Given the description of an element on the screen output the (x, y) to click on. 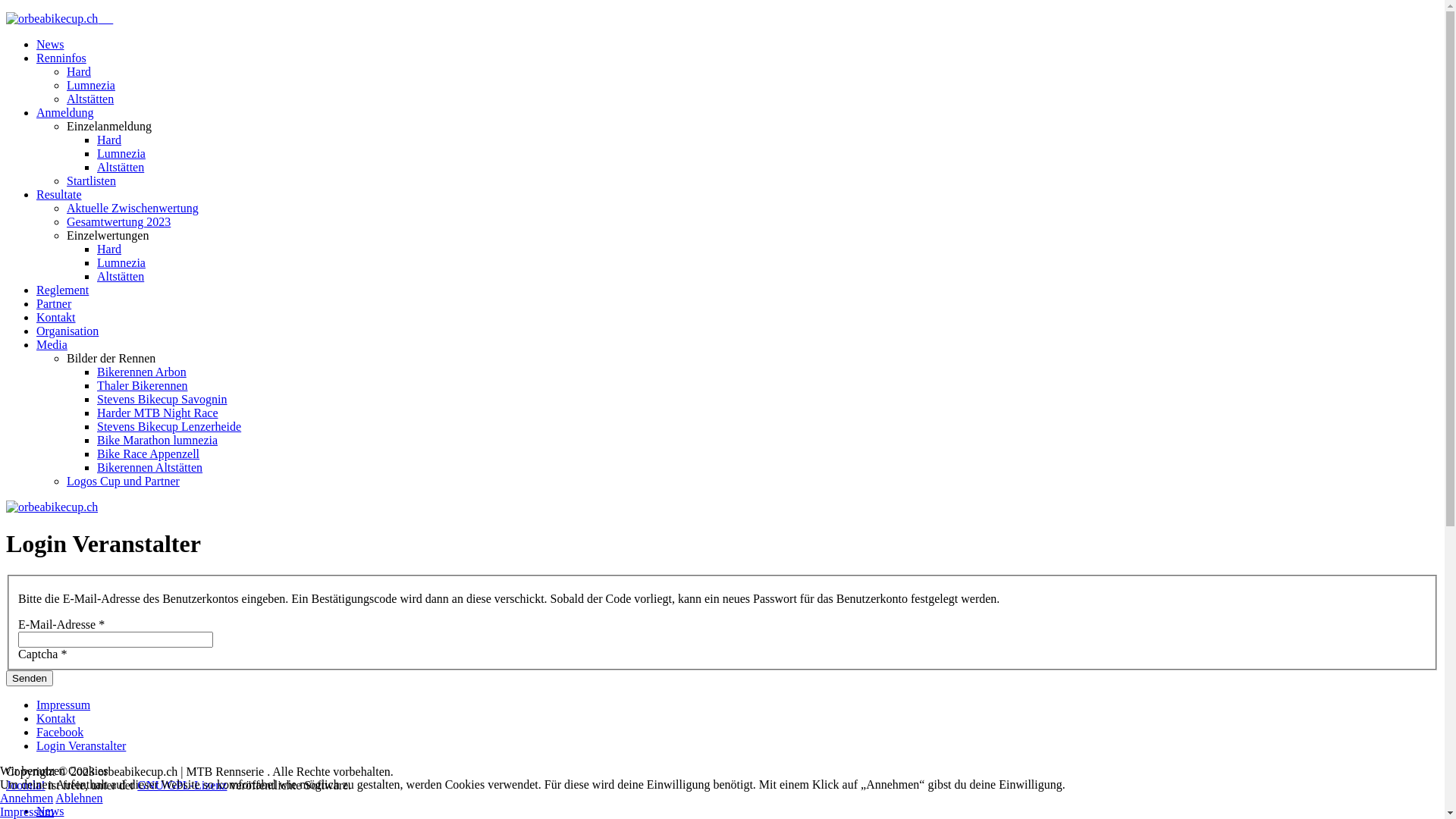
Media Element type: text (51, 344)
Bikerennen Arbon Element type: text (141, 371)
Reglement Element type: text (62, 289)
orbeabikecup.ch Element type: hover (51, 507)
Kontakt Element type: text (55, 316)
Hard Element type: text (109, 139)
orbeabikecup.ch Element type: hover (51, 18)
Joomla! Element type: text (25, 784)
Kontakt Element type: text (55, 718)
Hard Element type: text (78, 71)
Startlisten Element type: text (91, 180)
Impressum Element type: text (26, 811)
Bike Race Appenzell Element type: text (148, 453)
Hard Element type: text (109, 248)
News Element type: text (49, 43)
Stevens Bikecup Savognin Element type: text (162, 398)
News Element type: text (49, 810)
Lumnezia Element type: text (90, 84)
      Element type: text (722, 18)
Anmeldung Element type: text (65, 112)
Lumnezia Element type: text (121, 262)
Facebook Element type: text (59, 731)
Renninfos Element type: text (61, 57)
Ablehnen Element type: text (78, 797)
Bike Marathon lumnezia Element type: text (157, 439)
Harder MTB Night Race Element type: text (157, 412)
Lumnezia Element type: text (121, 153)
Aktuelle Zwischenwertung Element type: text (132, 207)
Thaler Bikerennen Element type: text (142, 385)
Logos Cup und Partner Element type: text (122, 480)
Stevens Bikecup Lenzerheide Element type: text (169, 426)
Annehmen Element type: text (26, 797)
Senden Element type: text (29, 678)
GNU/GPL-Lizenz Element type: text (181, 784)
Gesamtwertung 2023 Element type: text (118, 221)
Organisation Element type: text (67, 330)
Login Veranstalter Element type: text (80, 745)
Resultate Element type: text (58, 194)
Impressum Element type: text (63, 704)
Partner Element type: text (53, 303)
